Given the description of an element on the screen output the (x, y) to click on. 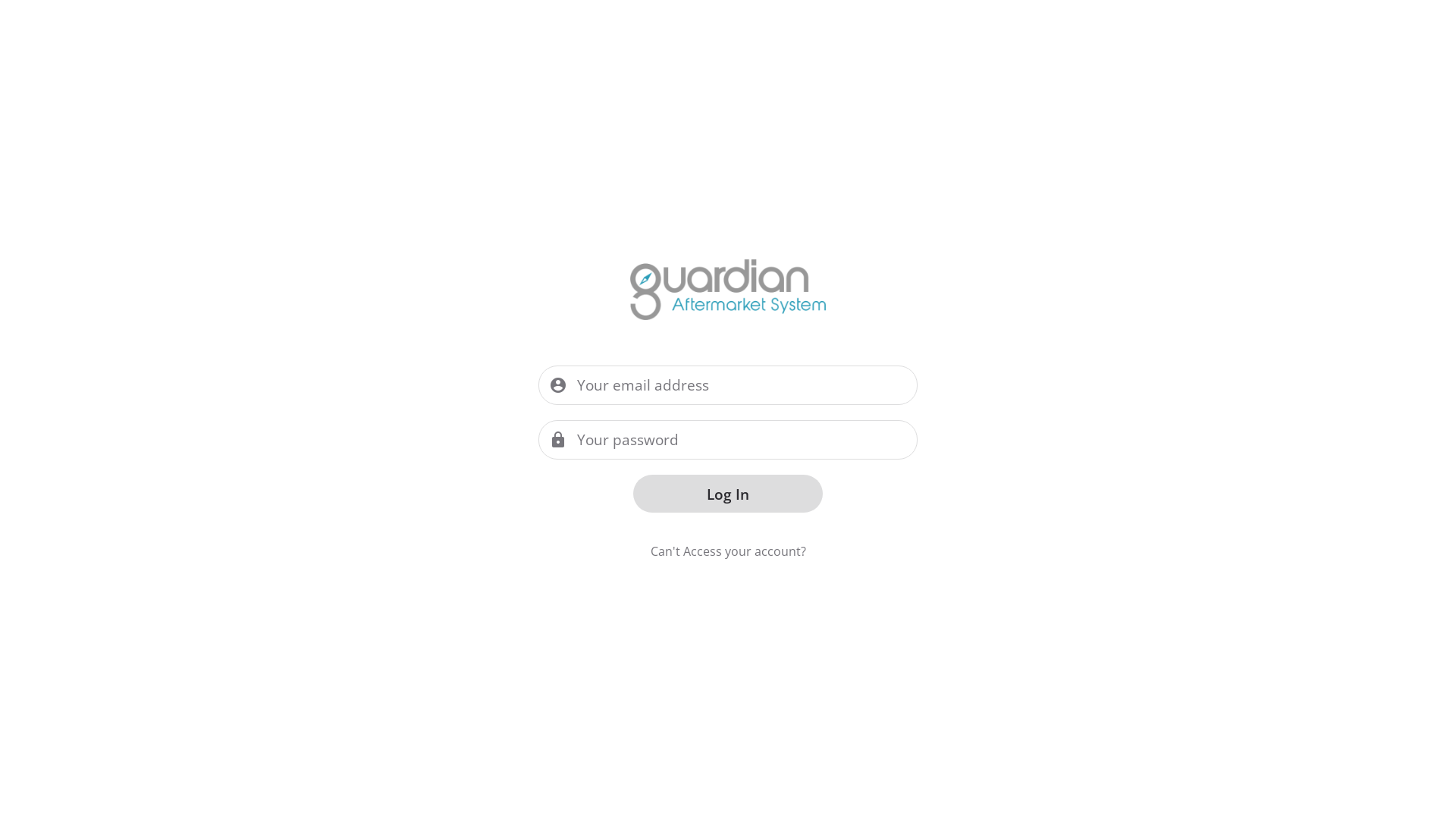
Can't Access your account? Element type: text (727, 550)
Log In Element type: text (727, 493)
